Given the description of an element on the screen output the (x, y) to click on. 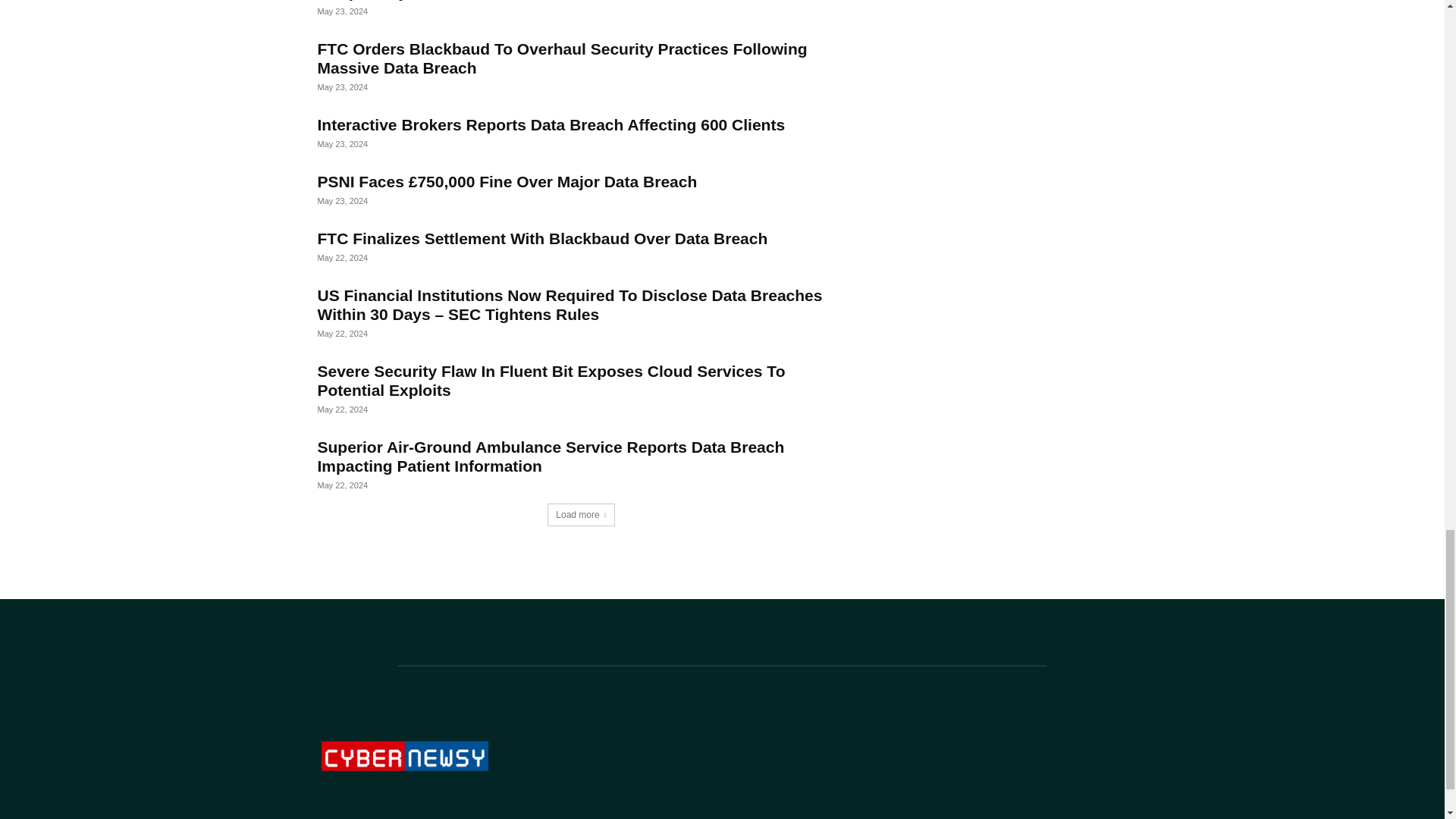
Load more (580, 514)
FTC Finalizes Settlement With Blackbaud Over Data Breach (542, 238)
